Given the description of an element on the screen output the (x, y) to click on. 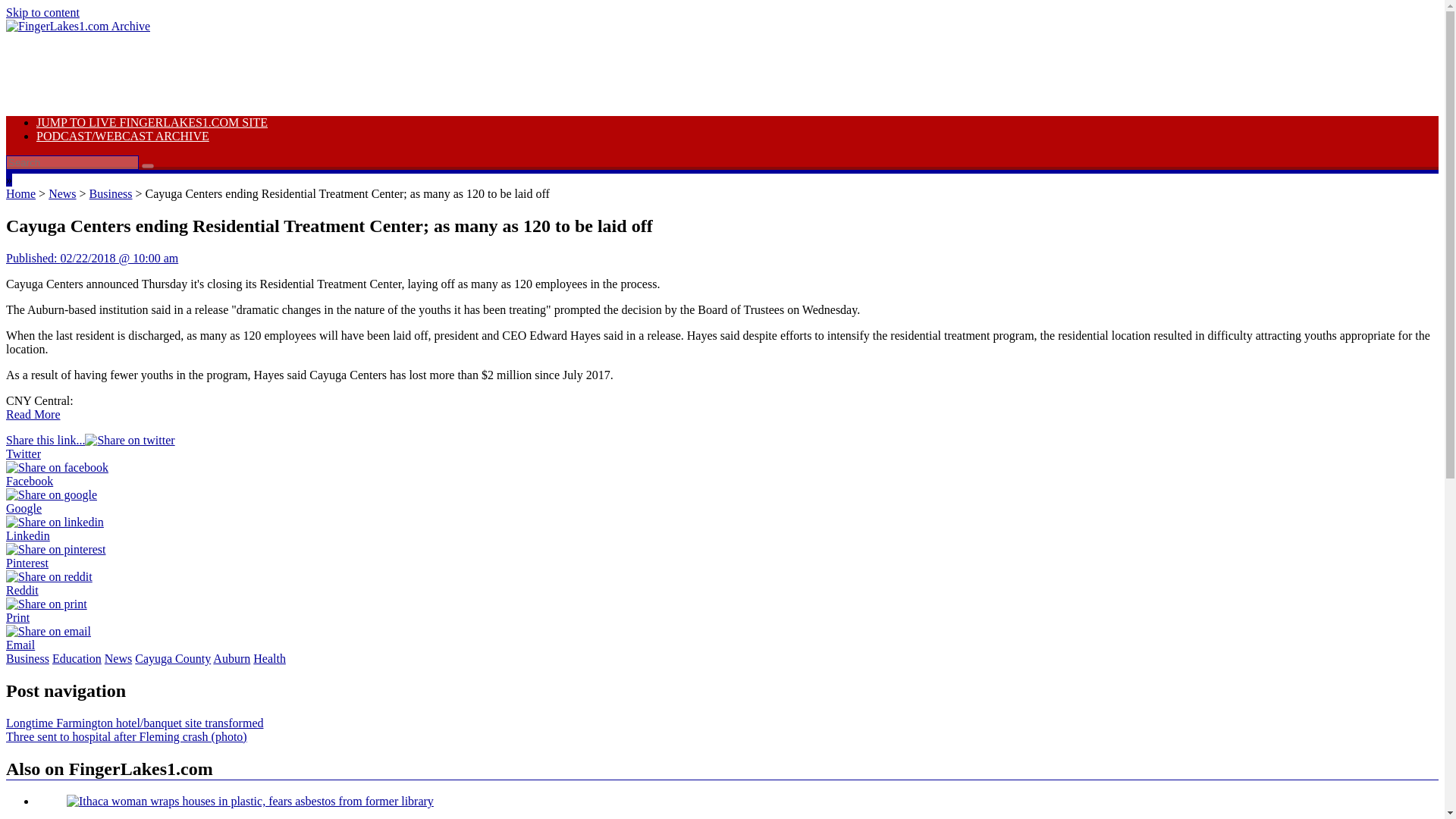
Read More (33, 413)
Share this link... (44, 440)
Auburn (231, 658)
Cayuga County (173, 658)
News (61, 193)
link (42, 11)
facebook (56, 468)
Health (269, 658)
reddit (49, 576)
Home (19, 193)
Business (110, 193)
twitter (129, 440)
Education (76, 658)
JUMP TO LIVE FINGERLAKES1.COM SITE (151, 122)
News (118, 658)
